Given the description of an element on the screen output the (x, y) to click on. 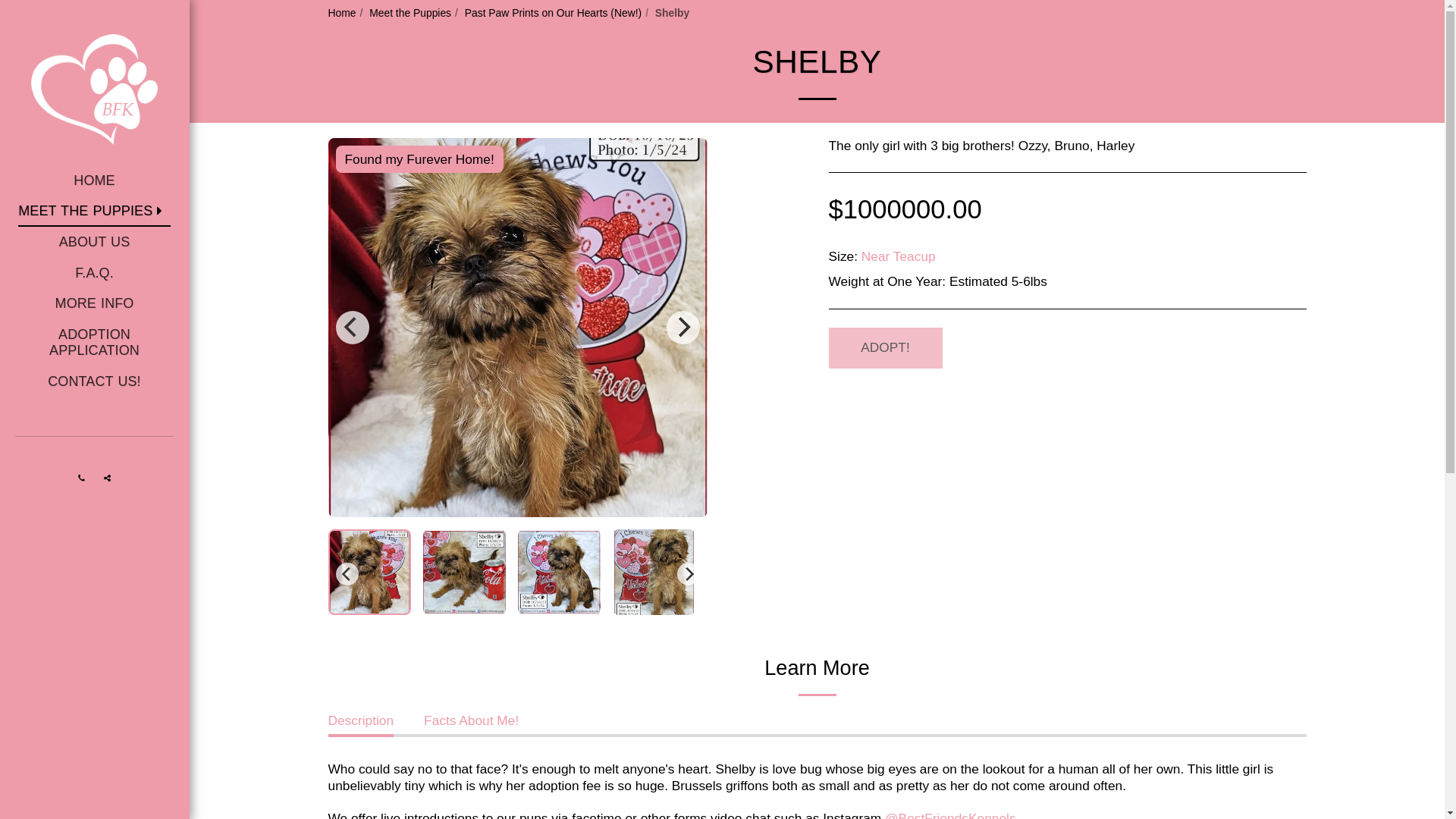
F.A.Q. (94, 273)
Meet the Puppies (410, 12)
CONTACT US! (93, 381)
MORE INFO (94, 304)
ABOUT US (95, 242)
HOME (94, 181)
MEET THE PUPPIES   (93, 211)
Home (341, 12)
ADOPTION APPLICATION (93, 343)
